Given the description of an element on the screen output the (x, y) to click on. 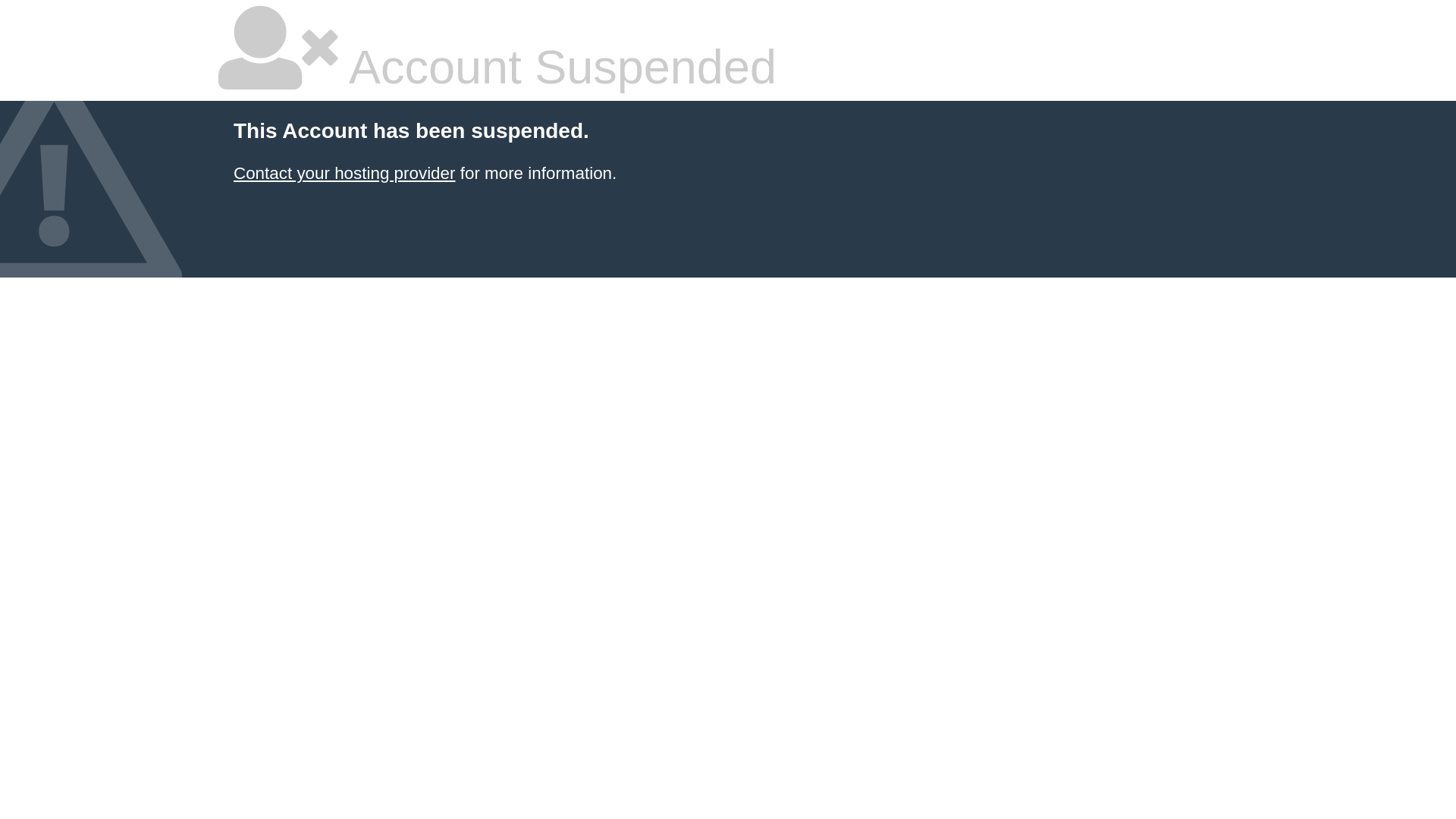
Contact your hosting provider Element type: text (344, 172)
